Given the description of an element on the screen output the (x, y) to click on. 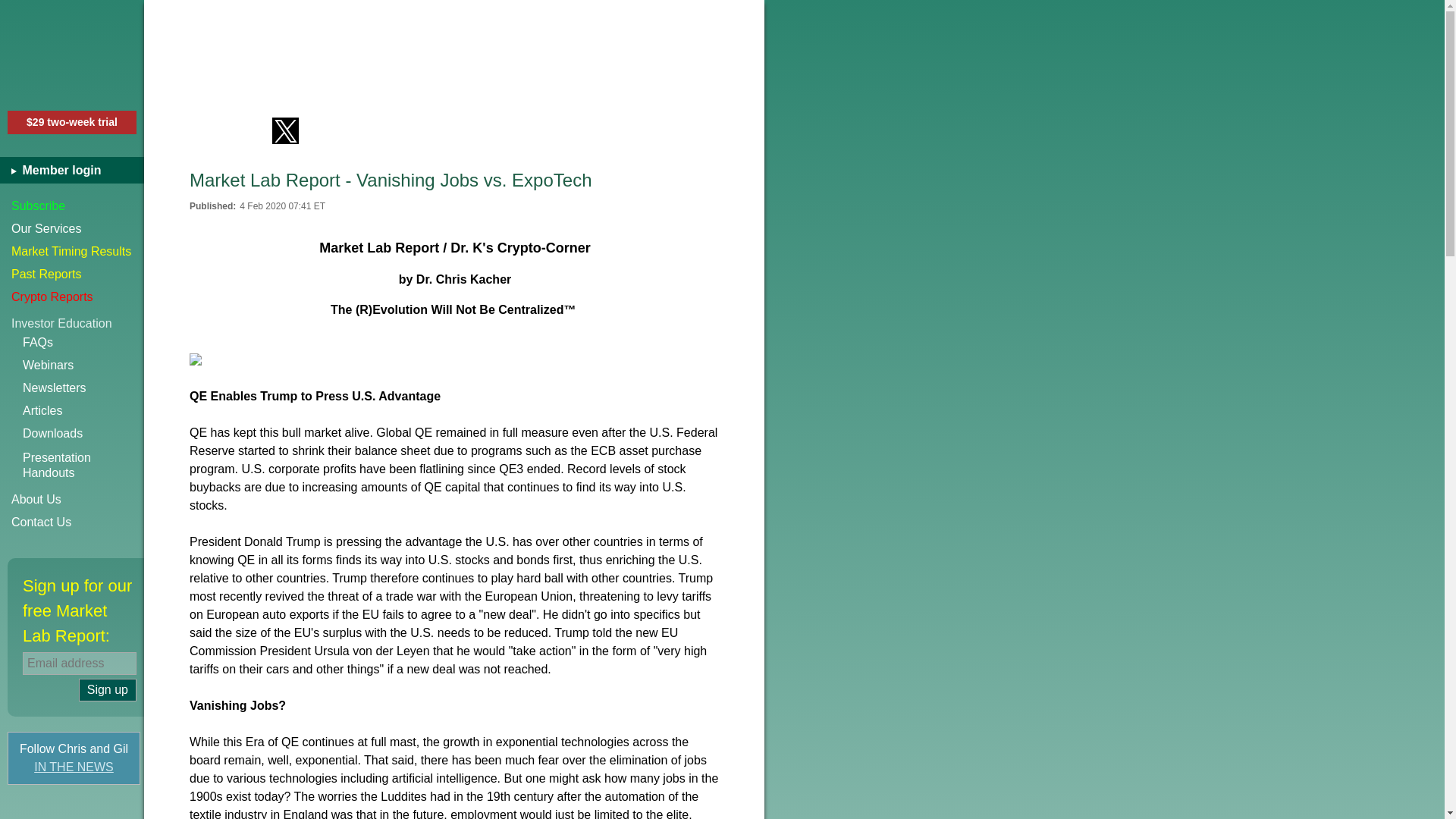
FAQs (83, 342)
Newsletters (83, 465)
YouTube (83, 387)
Webinars (243, 130)
IN THE NEWS (83, 364)
Sign up (74, 767)
About Us (107, 689)
Subscribe (72, 499)
Sign up (72, 205)
Past Reports (107, 689)
Downloads (72, 273)
Articles (83, 433)
Our Services (83, 410)
Member login (72, 228)
